Given the description of an element on the screen output the (x, y) to click on. 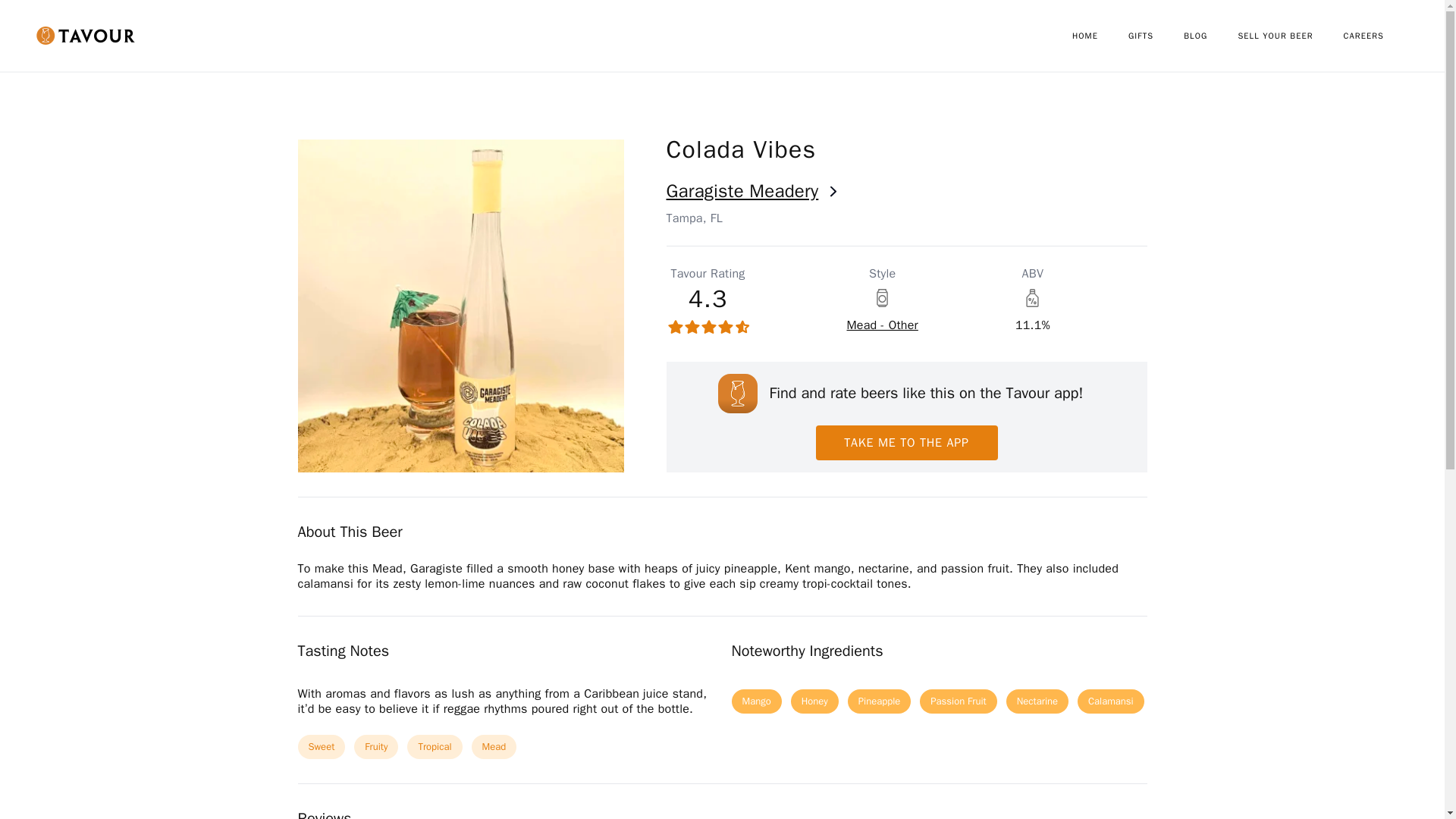
Garagiste Meadery (906, 191)
home (1099, 35)
Mead - Other (881, 325)
gifts (1155, 35)
TAKE ME TO THE APP (906, 442)
HOME (1099, 35)
blog (1210, 35)
GIFTS (1155, 35)
BLOG (1210, 35)
sell your beer (1289, 35)
careers (1378, 35)
SELL YOUR BEER (1289, 35)
CAREERS (1378, 35)
